Given the description of an element on the screen output the (x, y) to click on. 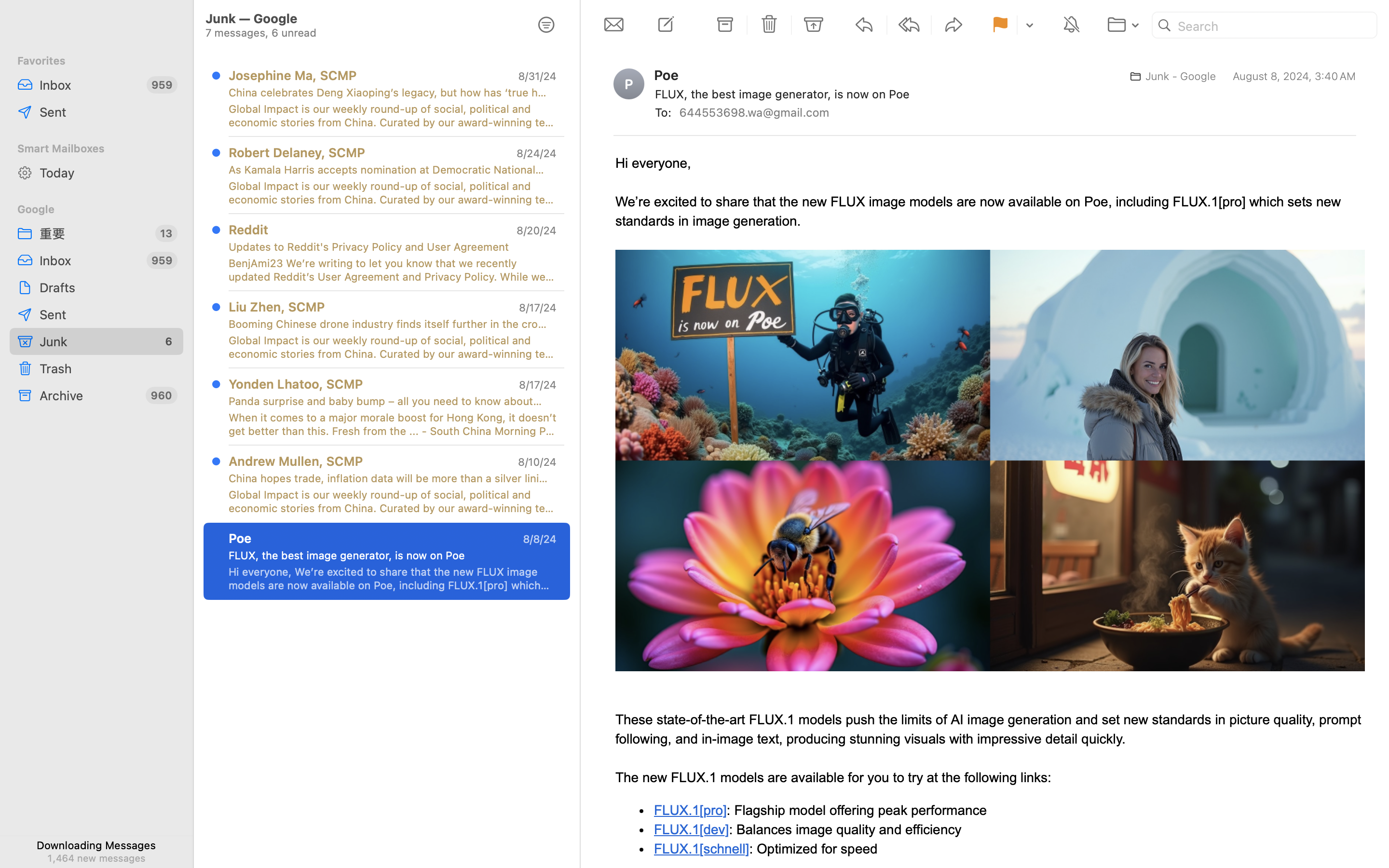
Panda surprise and baby bump – all you need to know about Hong Kong this week Element type: AXStaticText (388, 400)
When it comes to a major morale boost for Hong Kong, it doesn’t get better than this. Fresh from the ... - South China Morning Post - SCMP, Hong Kong Update - When it comes to a major morale boost for Hong Kong, it doesn’t get better than this. Fresh from the ... Hong Kong Update What to read and do this weekend Hong Kong economy Yonden Lhatoo Managing Editor, Content 17 August, 2024When it comes to a major morale boost for Hong Kong, it doesn’t get better than this. Fresh from the euphoria of the stellar performance that our medal-winning athletes put on at the Paris Olympics to capture our imagination, the city is now caught up in a new outbreak of panda fever. Ying Ying, one of the two giant pandas at Ocean Park, gave birth to two cubs on Thursday, to everyone’s delight and surprise. At 19 years of age, that makes her the world’s oldest first-time panda mum. After more than 10 years of encouraging Ying Ying and her partner Le Le to have a baby, which included phantom pregnancies and Element type: AXStaticText (392, 423)
￼Junk - Google Element type: AXStaticText (1168, 75)
8/31/24 Element type: AXStaticText (537, 75)
Sent Element type: AXStaticText (107, 314)
